Given the description of an element on the screen output the (x, y) to click on. 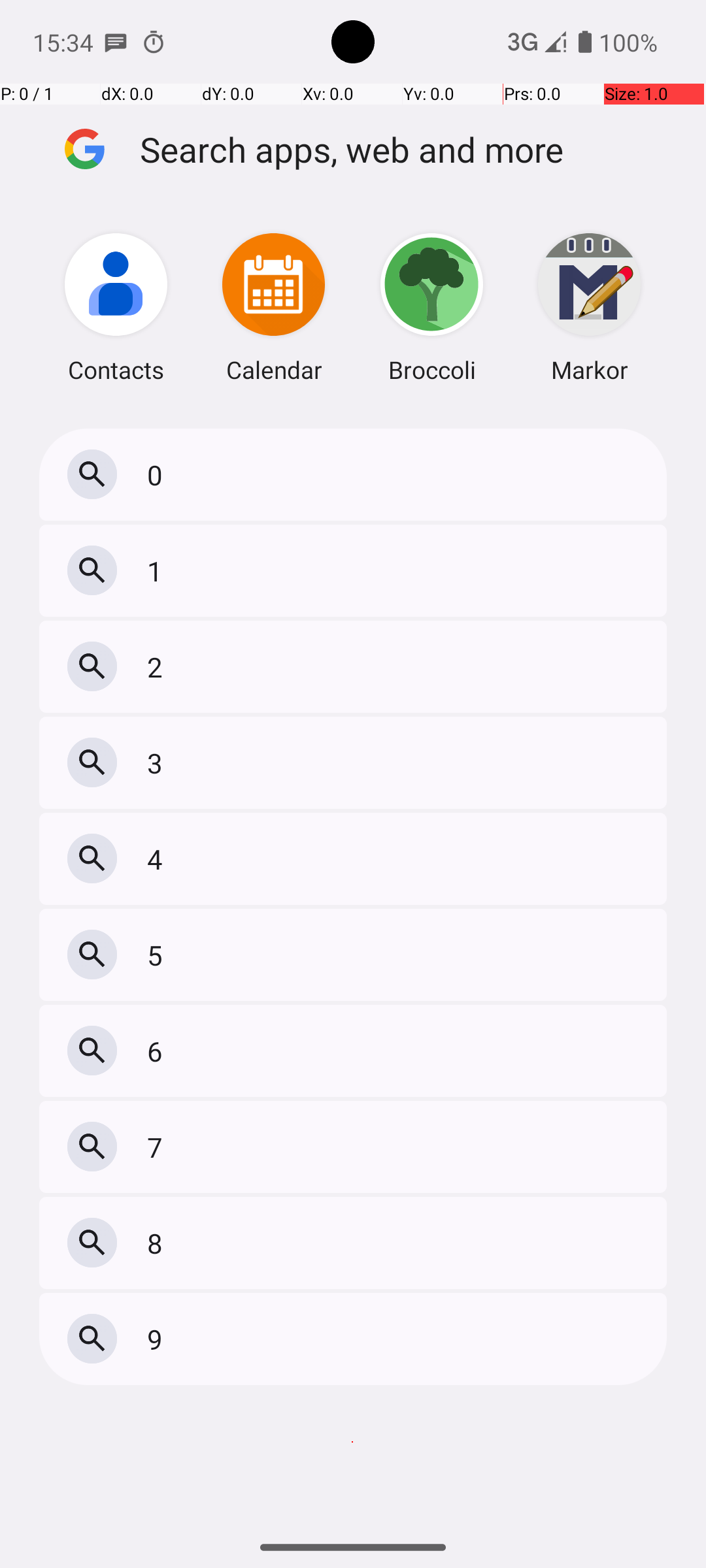
Search apps, web and more Element type: android.widget.EditText (403, 148)
